Given the description of an element on the screen output the (x, y) to click on. 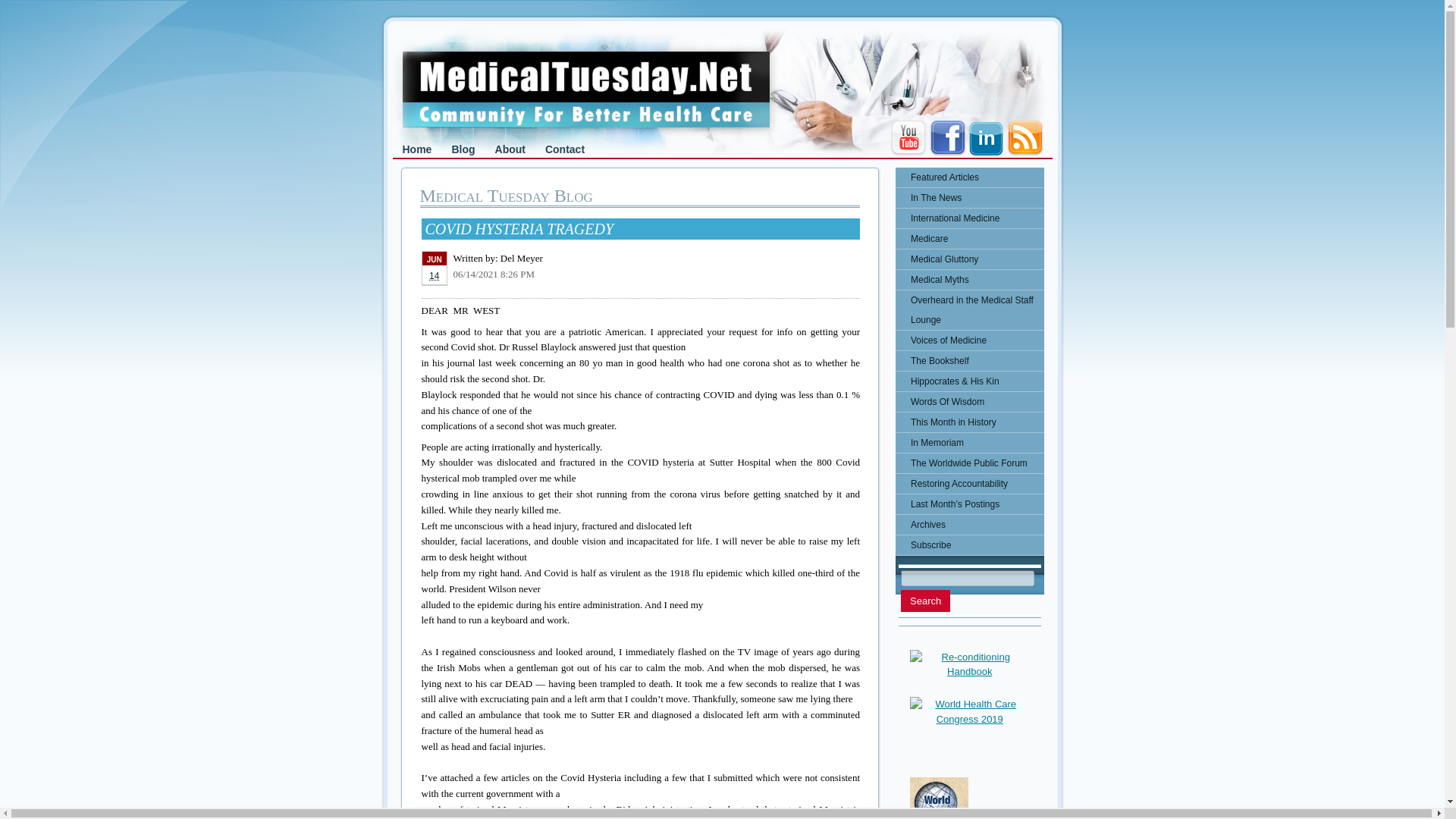
Archives (969, 524)
Search (925, 600)
International Medicine (969, 218)
The Bookshelf (969, 361)
Medicare (969, 238)
World Health Care Congress 2019 (969, 711)
Overheard in the Medical Staff Lounge (969, 310)
Subscribe (969, 545)
Words Of Wisdom (969, 401)
Home (417, 148)
The Worldwide Public Forum (969, 463)
Purchase this Handbook on Amazon (969, 664)
Featured Articles (969, 177)
This Month in History (969, 422)
Search (925, 600)
